Given the description of an element on the screen output the (x, y) to click on. 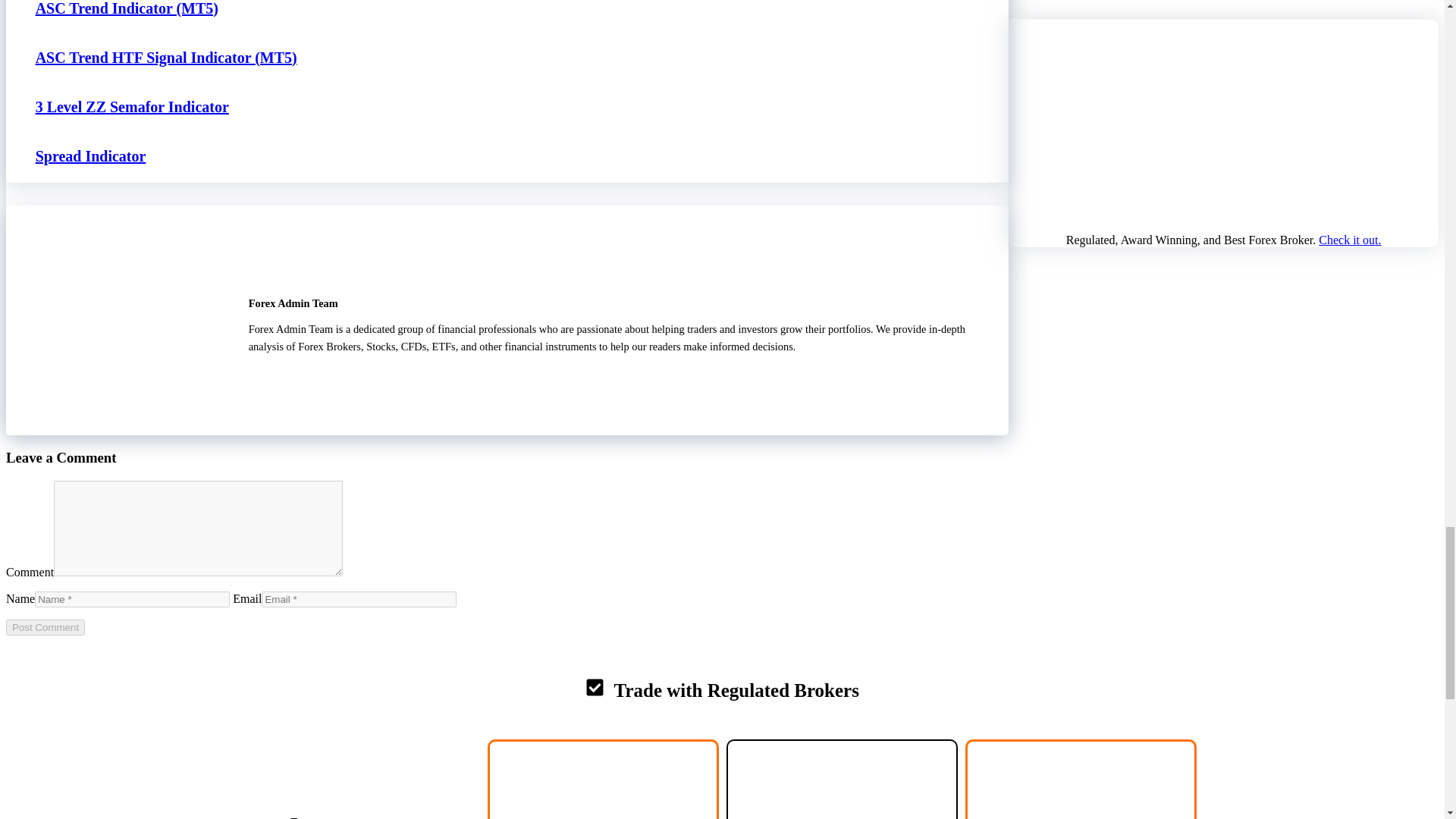
RoboForex (602, 779)
XM Logo (841, 793)
Post Comment (44, 627)
JustMarkets Logo (1083, 780)
Exness Logo (363, 774)
